Given the description of an element on the screen output the (x, y) to click on. 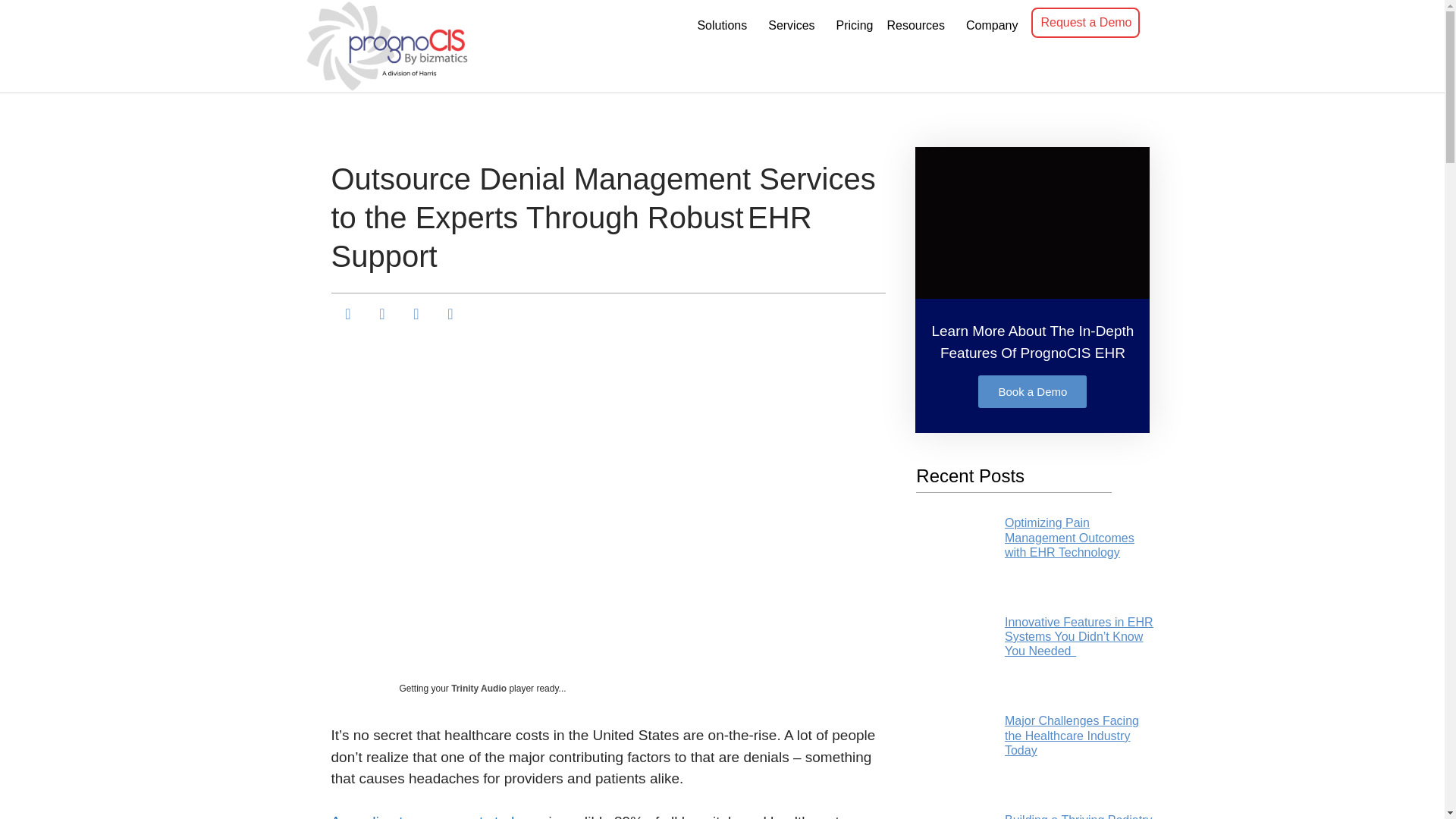
Pricing (853, 25)
Solutions (724, 25)
Resources (918, 25)
Request a Demo (1084, 22)
Trinity Audio (478, 688)
According to one recent study (424, 816)
Services (794, 25)
Company (994, 25)
